Given the description of an element on the screen output the (x, y) to click on. 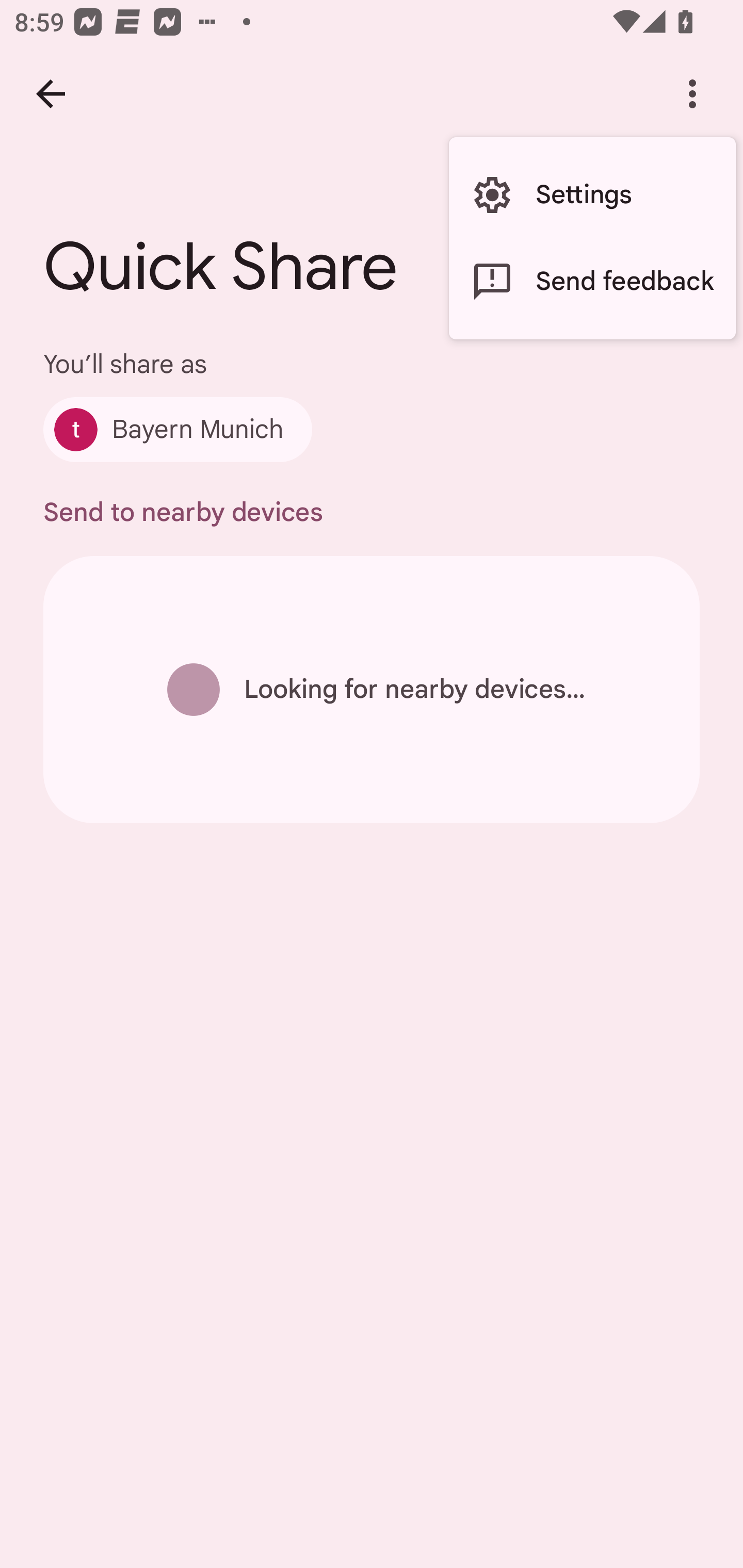
Settings (591, 195)
Send feedback (591, 281)
